Given the description of an element on the screen output the (x, y) to click on. 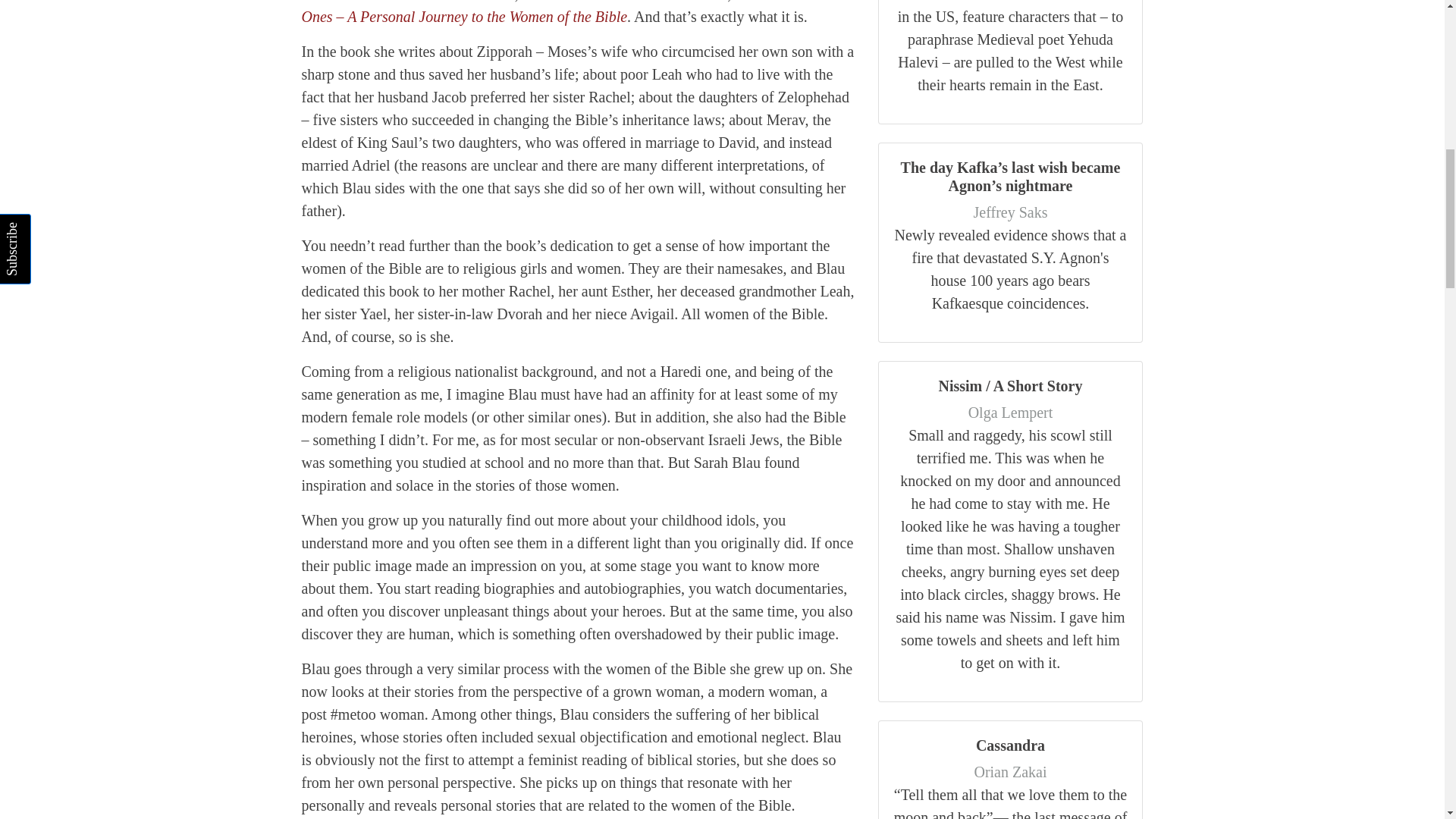
Jeffrey Saks (1011, 211)
Orian Zakai (1010, 771)
Cassandra (1010, 745)
Olga Lempert (1010, 412)
